Given the description of an element on the screen output the (x, y) to click on. 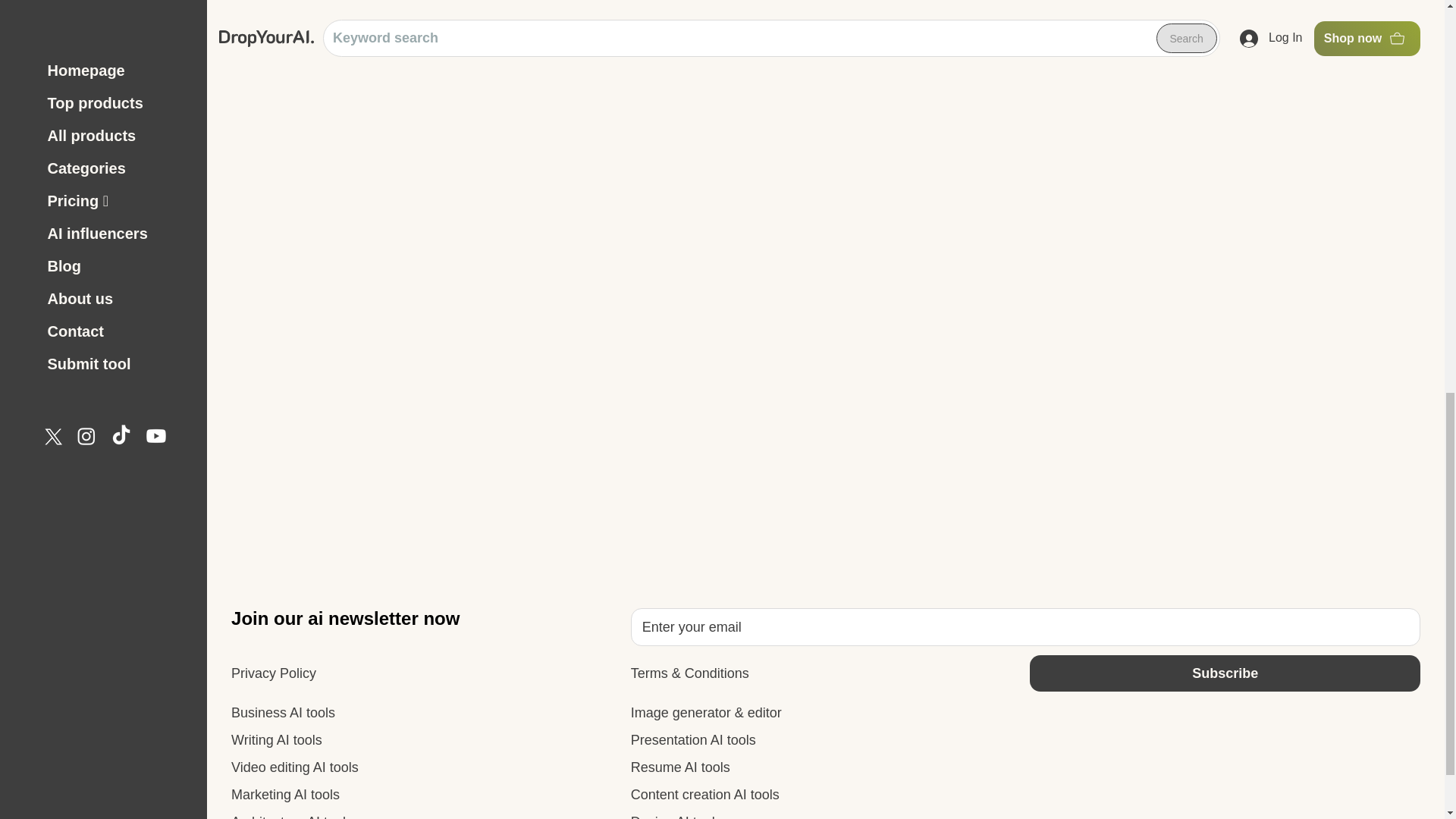
Architecture AI tools (291, 814)
Presentation AI tools (692, 740)
Resume AI tools (680, 767)
Content creation AI tools (704, 794)
Business AI tools (282, 712)
Design AI tools (676, 814)
Marketing AI tools (285, 794)
Video editing AI tools (294, 767)
Writing AI tools (276, 740)
Privacy Policy (273, 672)
